Given the description of an element on the screen output the (x, y) to click on. 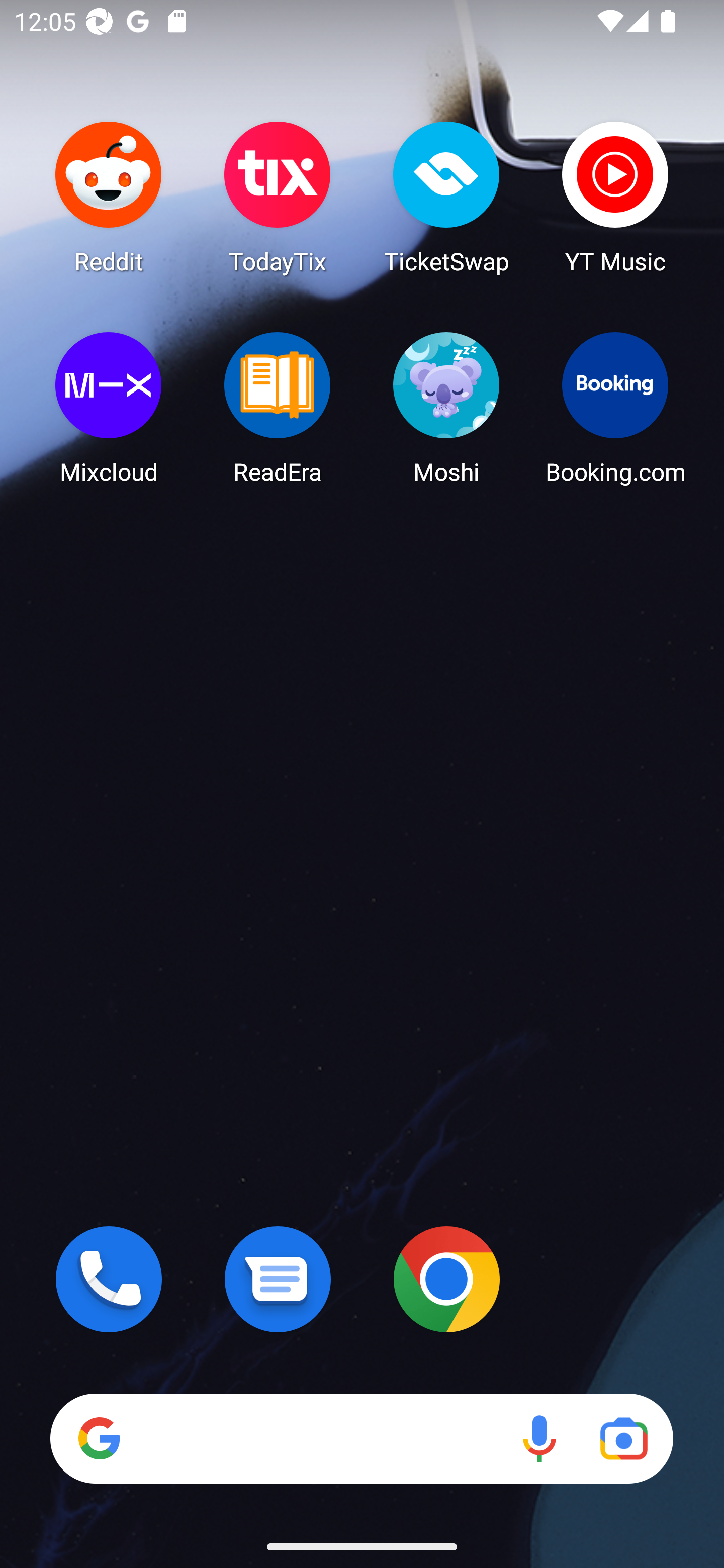
Reddit (108, 196)
TodayTix (277, 196)
TicketSwap (445, 196)
YT Music (615, 196)
Mixcloud (108, 407)
ReadEra (277, 407)
Moshi (445, 407)
Booking.com (615, 407)
Phone (108, 1279)
Messages (277, 1279)
Chrome (446, 1279)
Search Voice search Google Lens (361, 1438)
Voice search (539, 1438)
Google Lens (623, 1438)
